Given the description of an element on the screen output the (x, y) to click on. 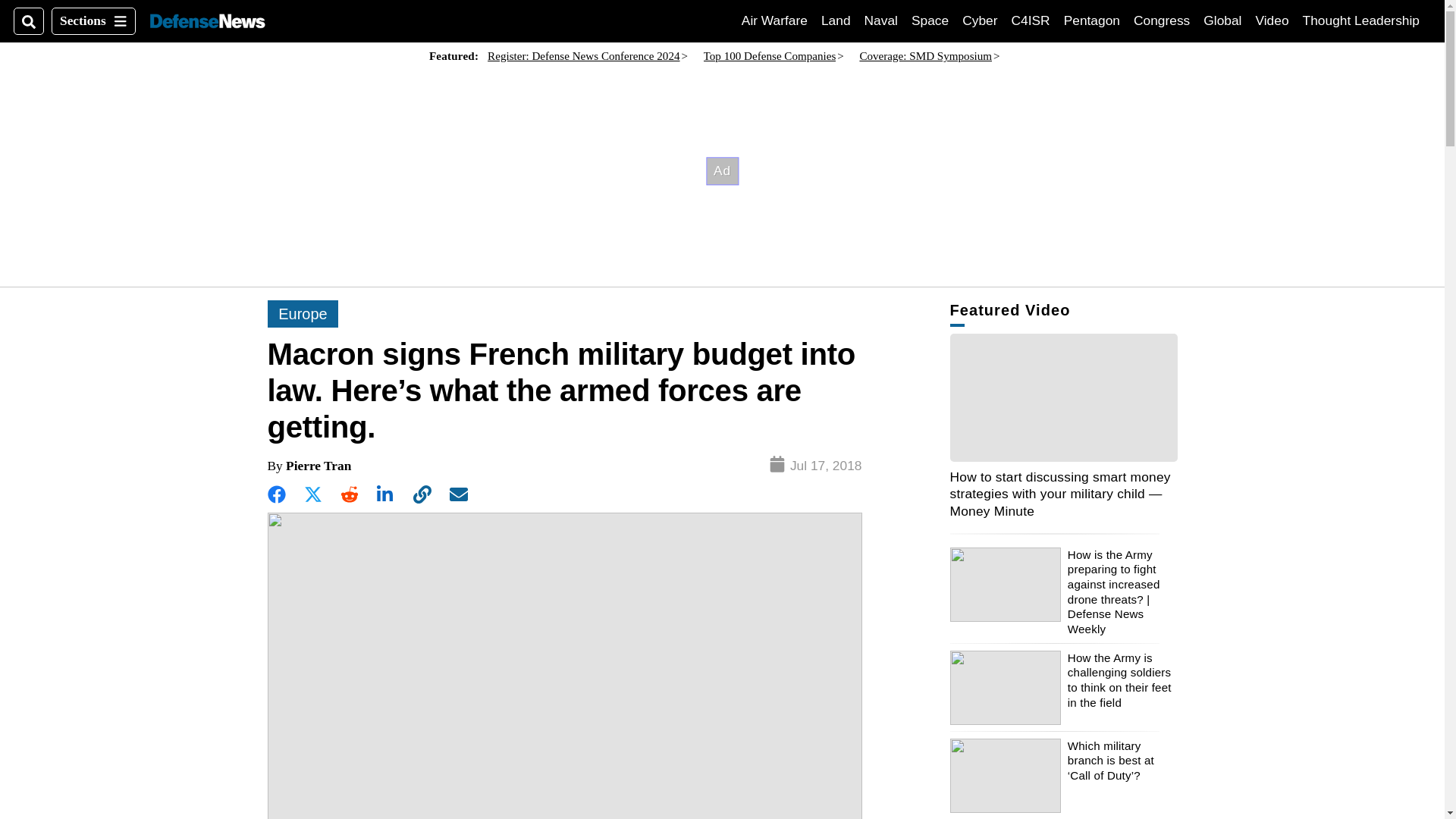
Defense News Logo (207, 21)
Naval (881, 20)
Pentagon (1091, 20)
Thought Leadership (1361, 20)
Space (930, 20)
Congress (1161, 20)
Global (1222, 20)
Land (835, 20)
Air Warfare (774, 20)
